Given the description of an element on the screen output the (x, y) to click on. 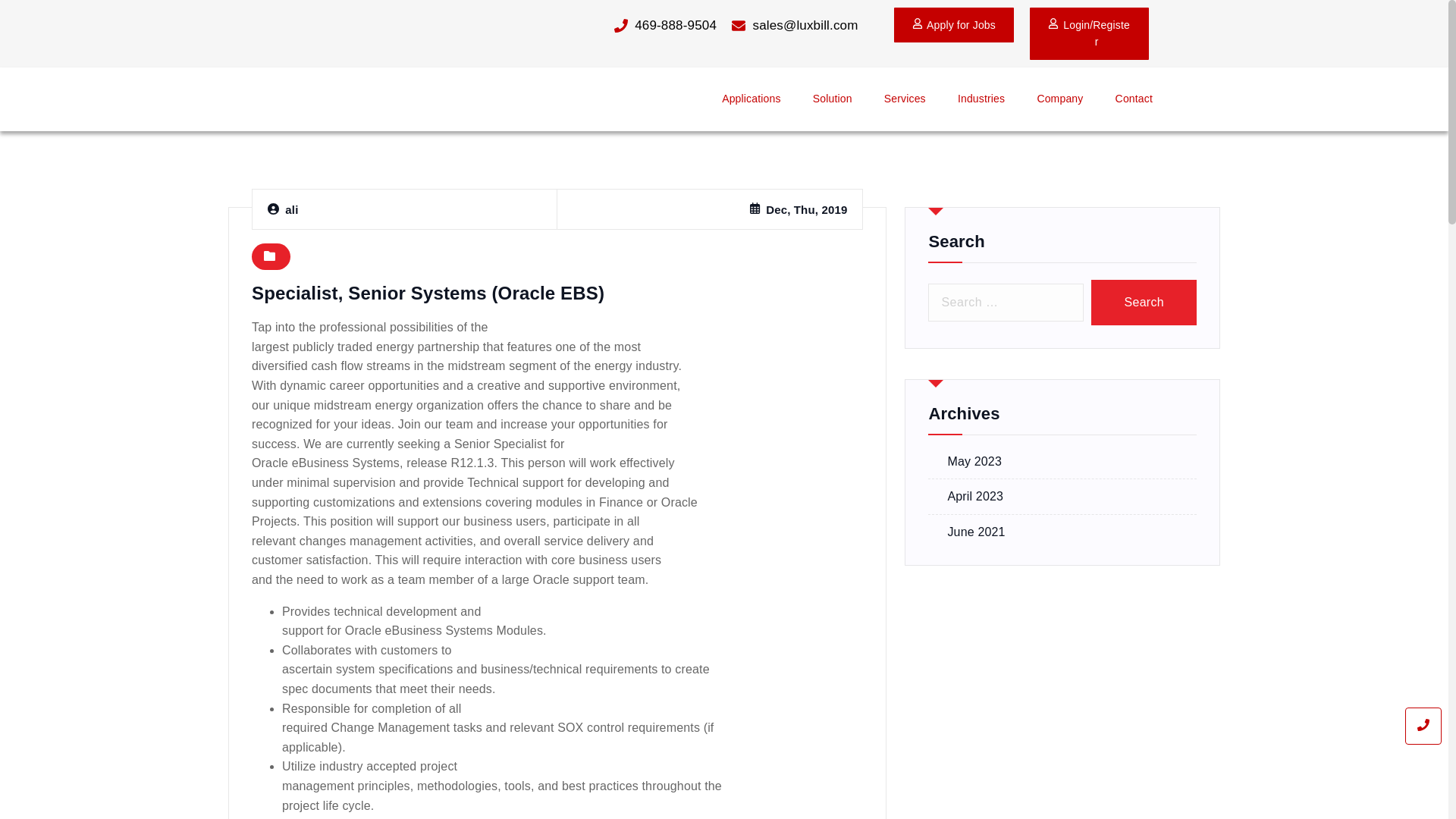
Apply for Jobs (953, 24)
Company (1059, 99)
Contact (1134, 99)
Search (1143, 302)
Industries (981, 99)
469-888-9504 (639, 25)
Solution (832, 99)
Search (1143, 302)
Applications (750, 99)
Services (905, 99)
